Given the description of an element on the screen output the (x, y) to click on. 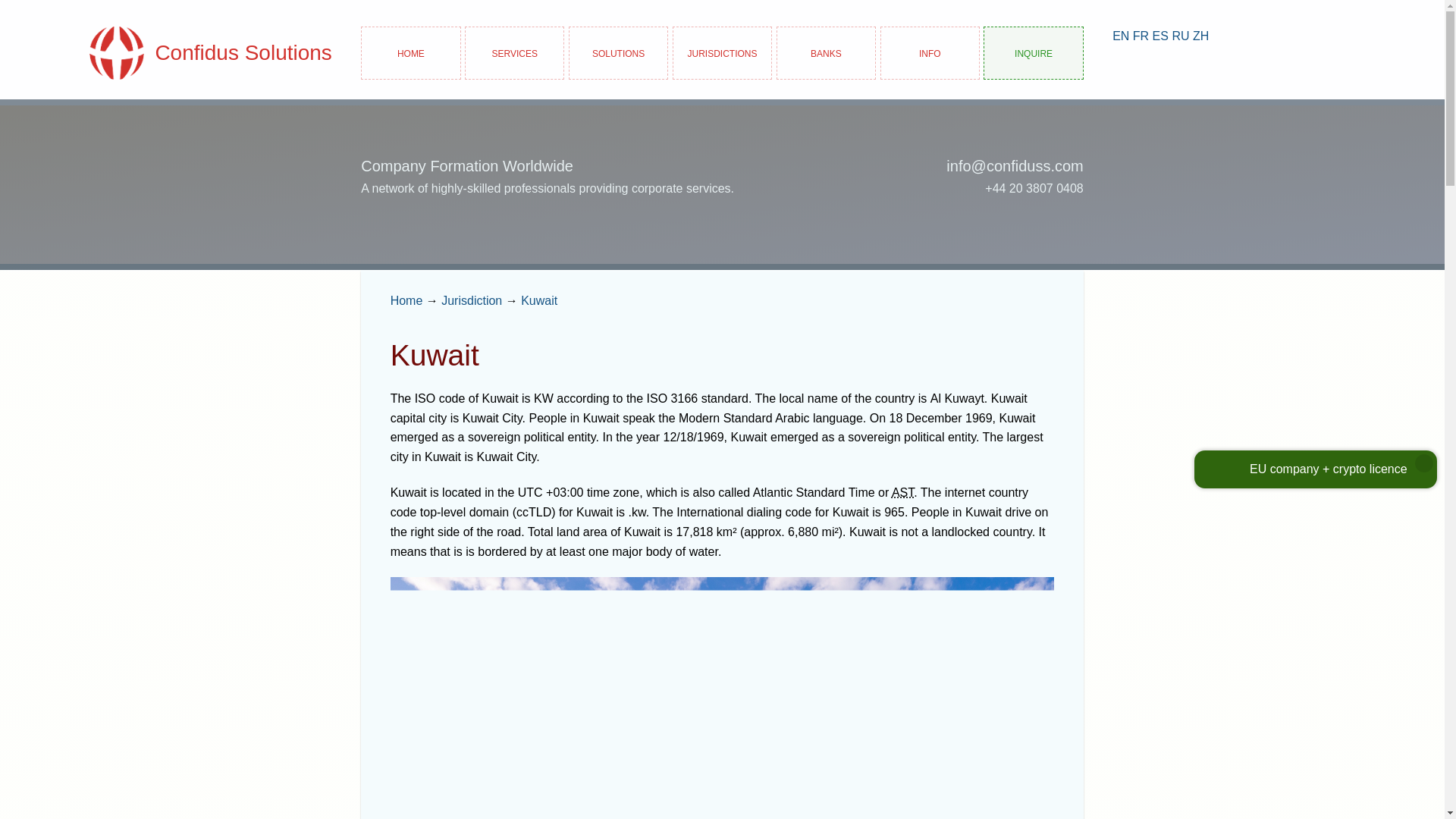
Personal banker for individual banking purposes - English (1120, 35)
Atlantic Standard Time (902, 492)
Banks (826, 52)
Company incorporation services and corporate solutions (514, 52)
ES (1161, 35)
Home (410, 52)
Introduction to Kuwait (539, 300)
Inquire (1033, 52)
Jurisdiction (471, 300)
Solutions (618, 52)
Confidus Solutions (180, 52)
Corporate tailor-made business solutions (618, 52)
Useful information and utility (929, 52)
Services (514, 52)
Contact us now (1033, 52)
